Given the description of an element on the screen output the (x, y) to click on. 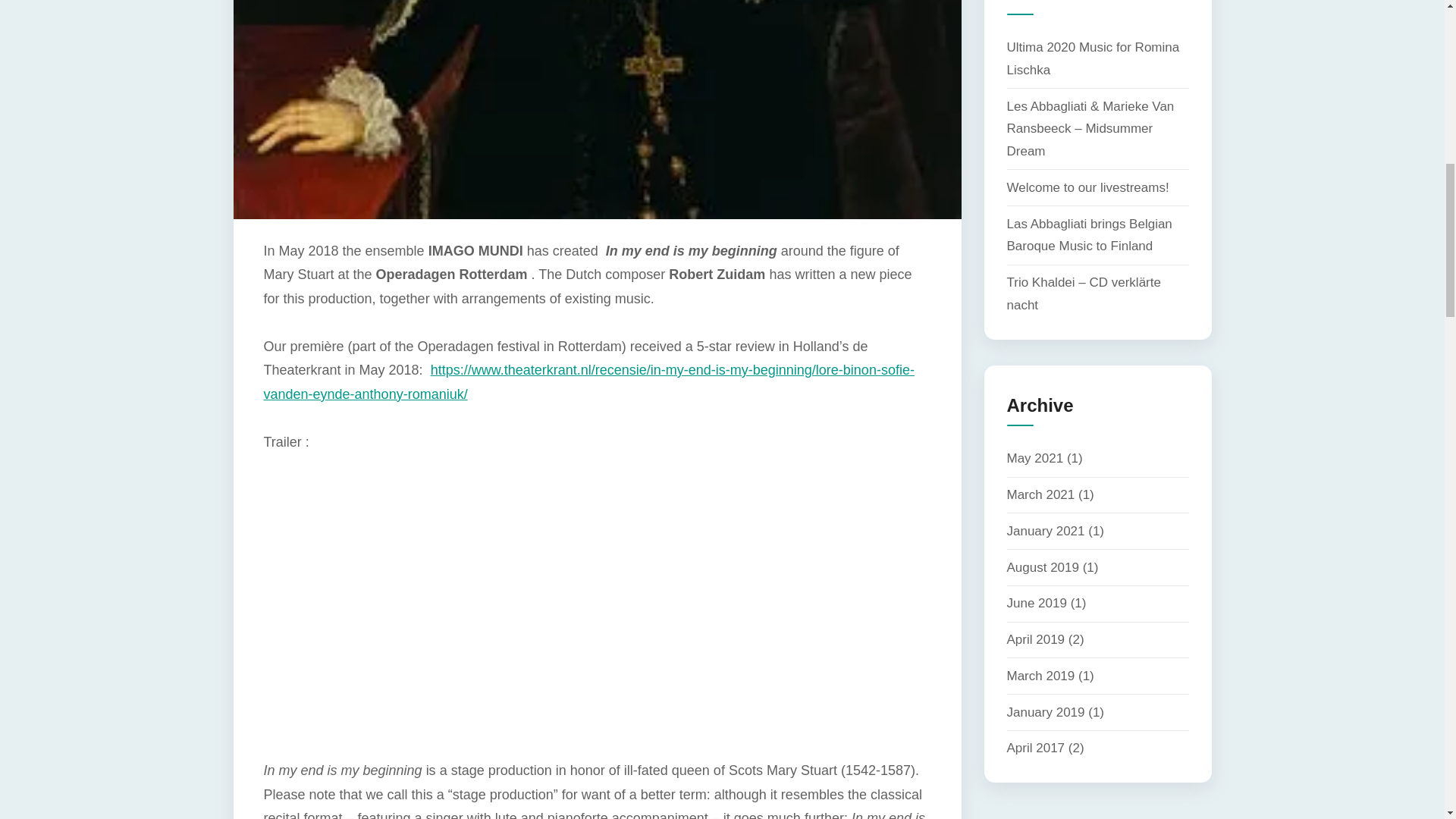
In My End is My Beginning (506, 614)
Welcome to our livestreams! (1088, 187)
Ultima 2020 Music for Romina Lischka (1093, 58)
